Given the description of an element on the screen output the (x, y) to click on. 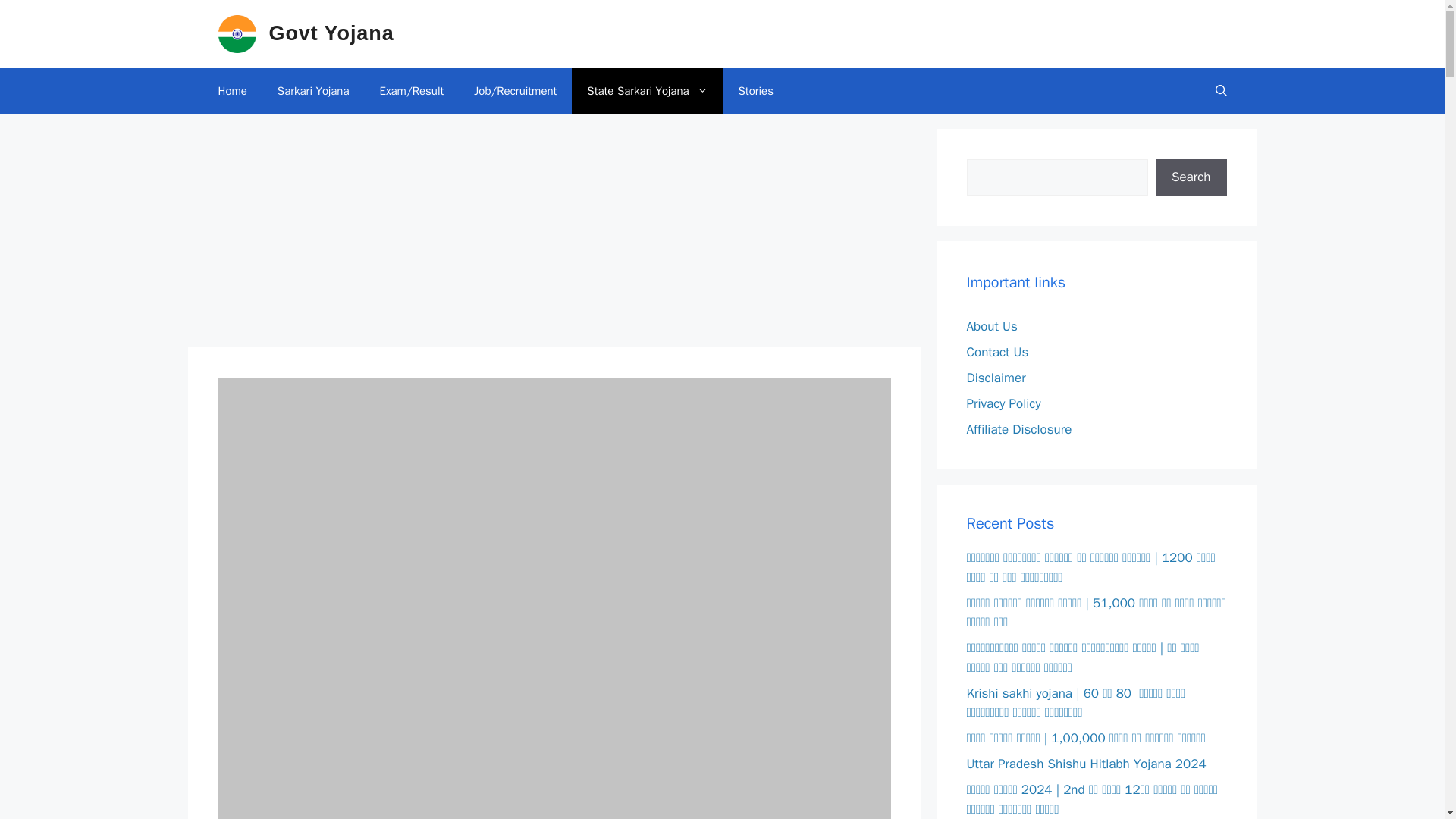
Home (232, 90)
Stories (756, 90)
Govt Yojana (330, 33)
State Sarkari Yojana (647, 90)
Sarkari Yojana (313, 90)
